Given the description of an element on the screen output the (x, y) to click on. 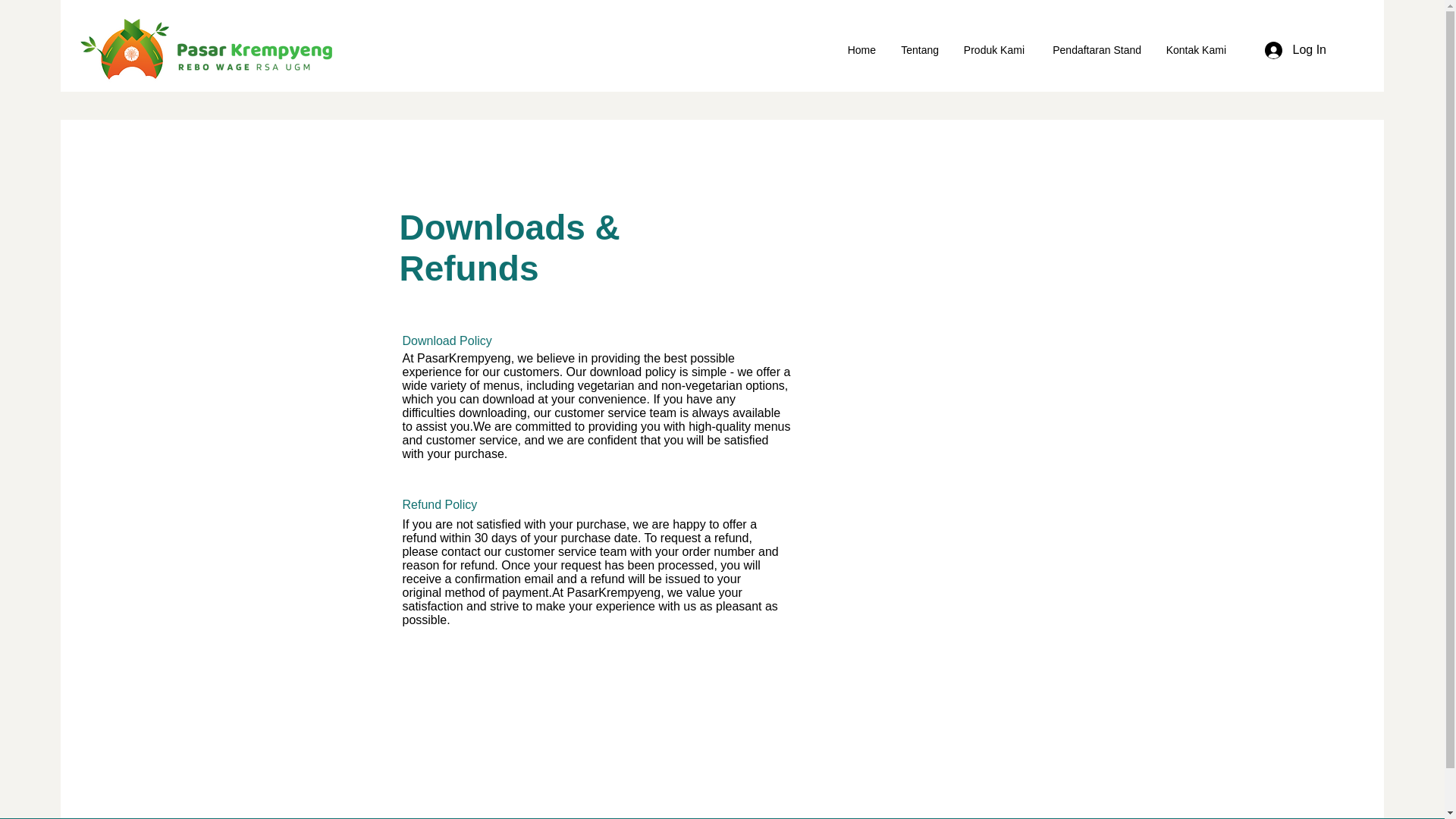
Pendaftaran Stand (1094, 49)
Home (860, 49)
Produk Kami (992, 49)
Tentang (918, 49)
Kontak Kami (1195, 49)
Log In (1294, 49)
